Given the description of an element on the screen output the (x, y) to click on. 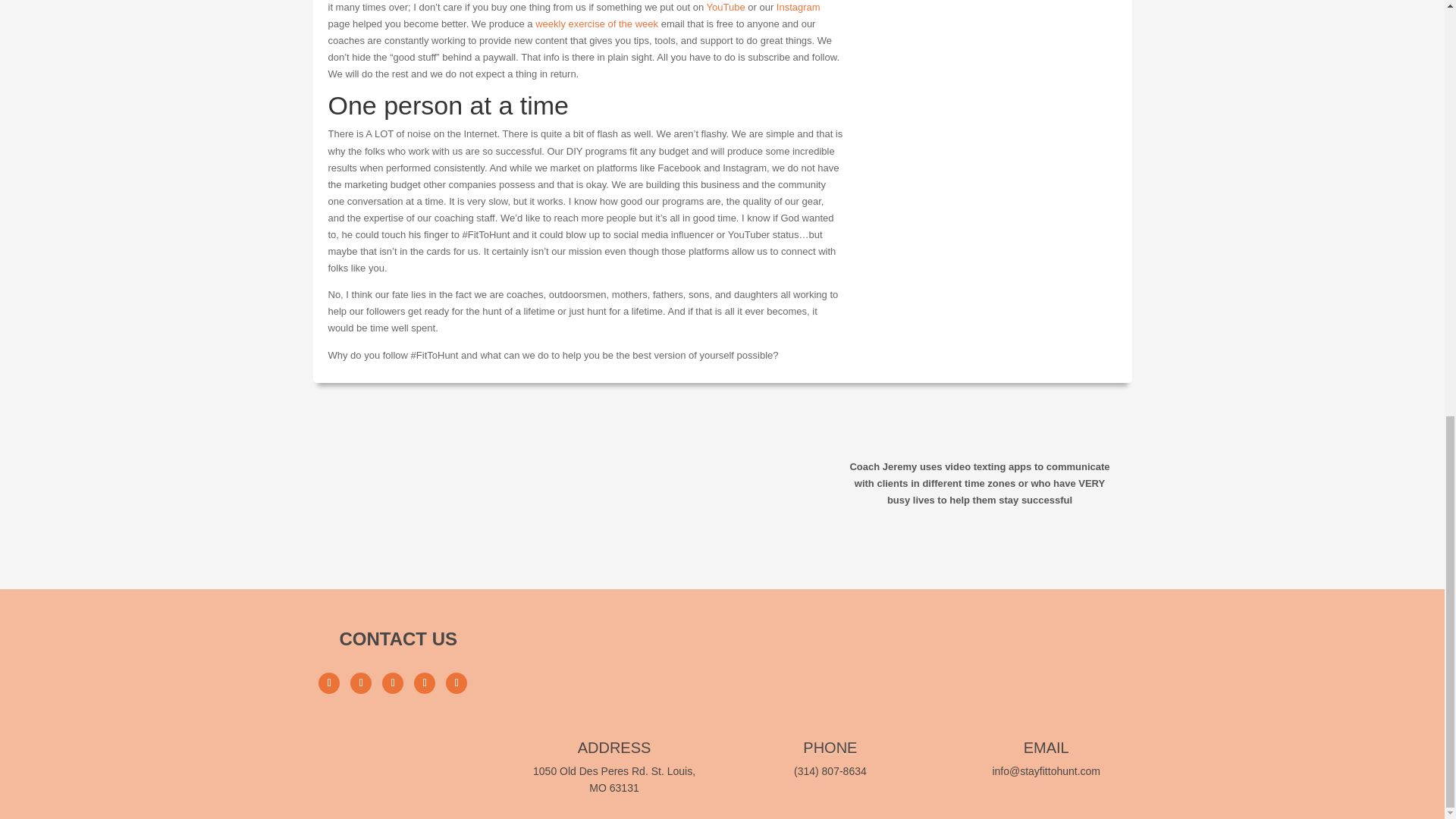
YouTube (725, 7)
Follow on Youtube (424, 682)
Follow on Instagram (360, 682)
Instagram (798, 7)
Follow on Facebook (328, 682)
1050 Old Des Peres Rd. St. Louis, MO 63131 (613, 778)
weekly exercise of the week (596, 23)
Follow on LinkedIn (456, 682)
Follow on X (392, 682)
